Given the description of an element on the screen output the (x, y) to click on. 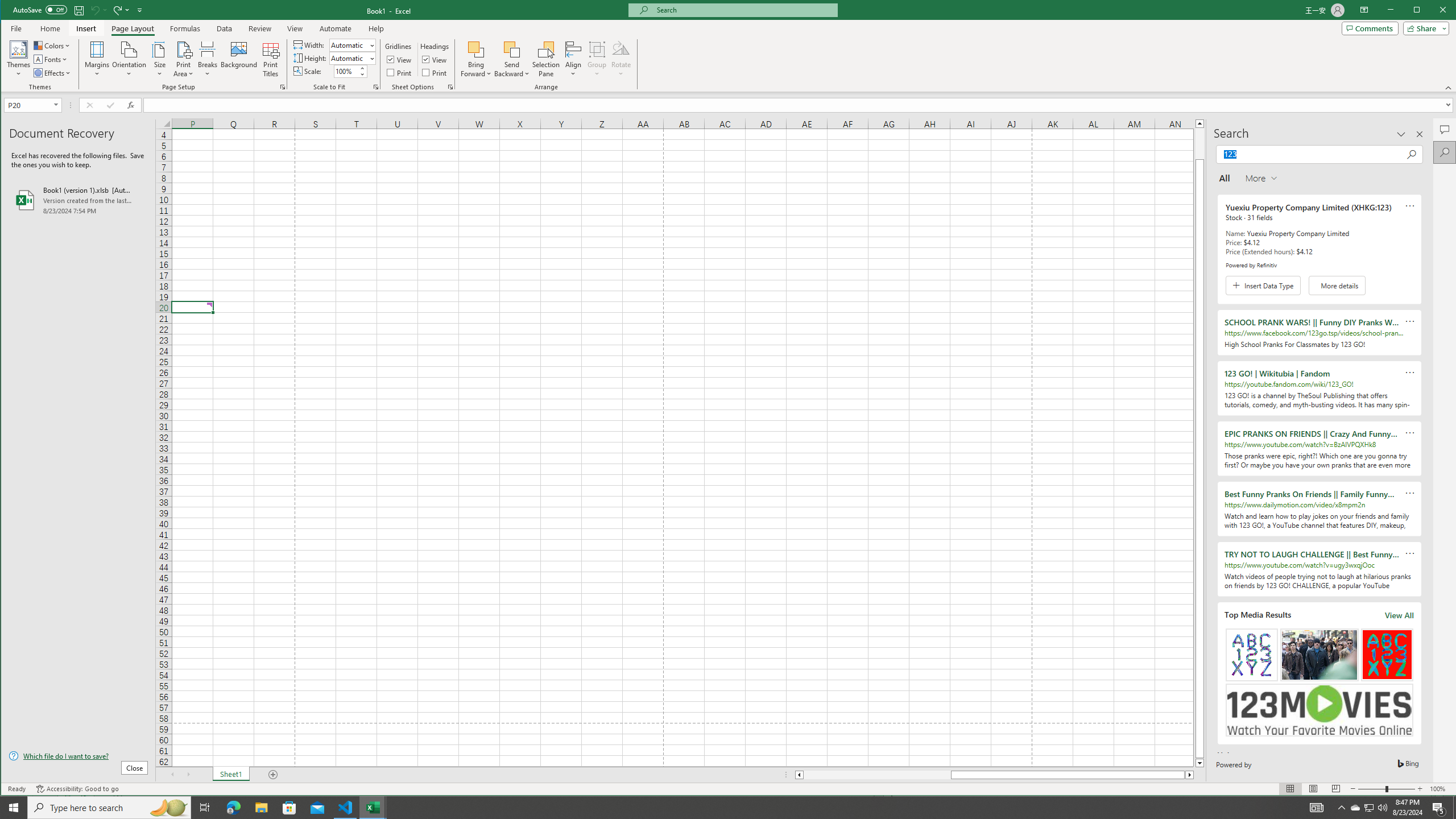
Height (352, 57)
Notification Chevron (1341, 807)
Rotate (620, 59)
Maximize (1432, 11)
Send Backward (512, 59)
Search highlights icon opens search home window (1368, 807)
